Given the description of an element on the screen output the (x, y) to click on. 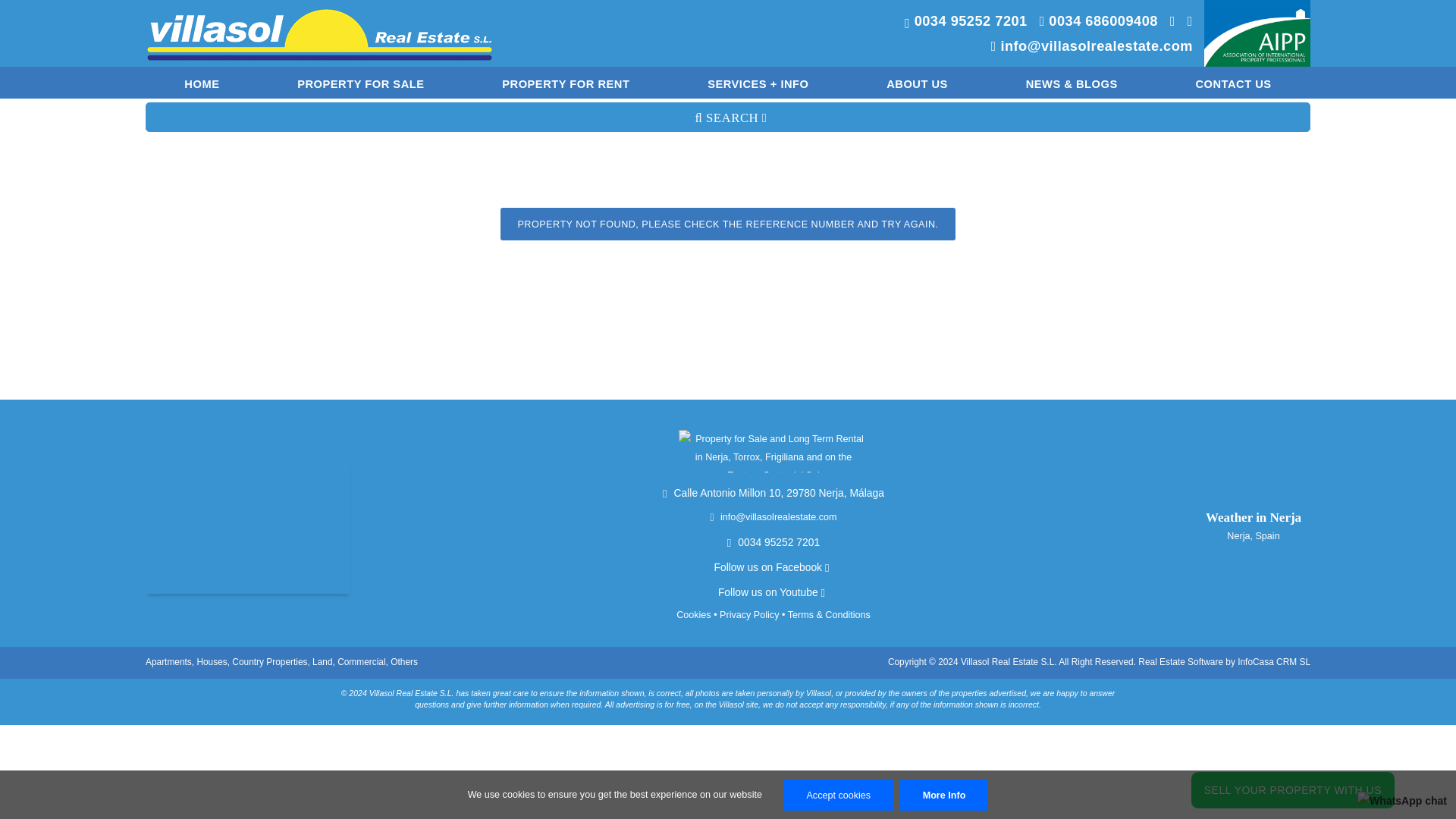
0034 686009408 (1093, 23)
0034 95252 7201 (961, 23)
HOME (201, 82)
CONTACT US (1232, 82)
0034 95252 7201 (772, 541)
ABOUT US (916, 82)
PROPERTY FOR SALE (360, 82)
PROPERTY FOR RENT (565, 82)
